Given the description of an element on the screen output the (x, y) to click on. 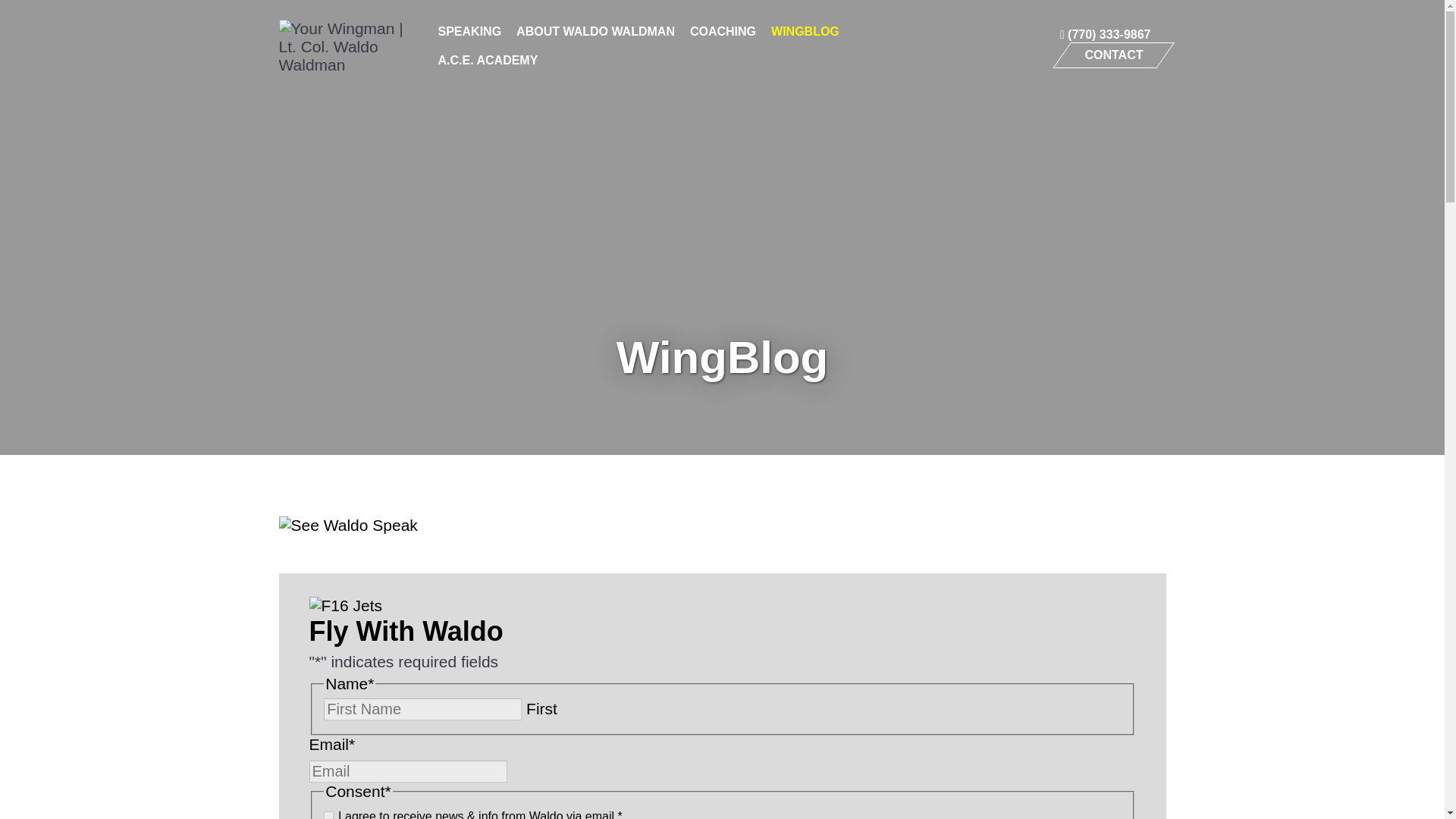
A.C.E. ACADEMY (488, 66)
COACHING (722, 37)
SPEAKING (469, 37)
WINGBLOG (804, 37)
1 (328, 815)
CONTACT (1113, 54)
Your Wingman (343, 46)
See Waldo Speak (722, 525)
ABOUT WALDO WALDMAN (595, 37)
See Waldo Speak (348, 525)
